Given the description of an element on the screen output the (x, y) to click on. 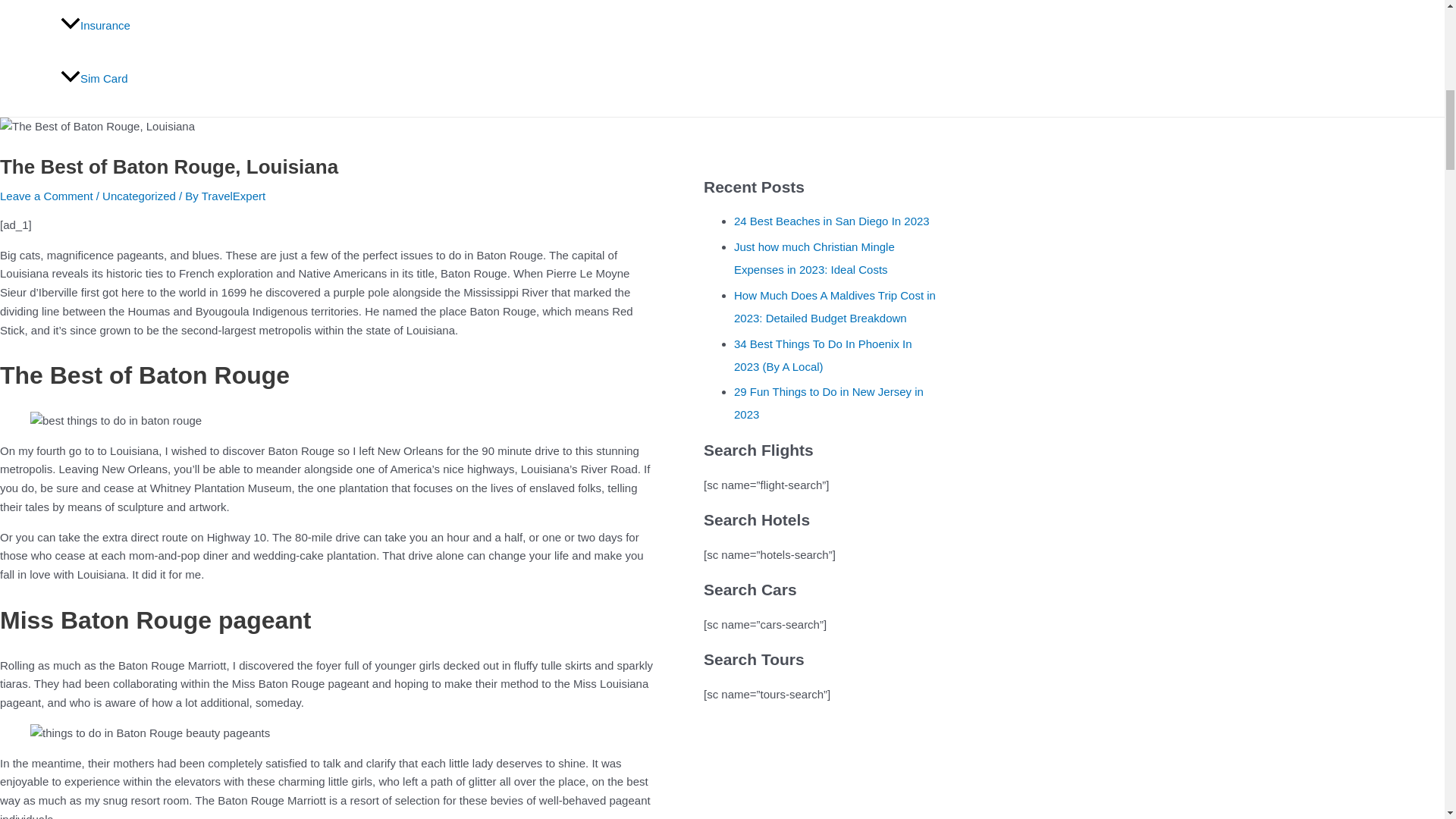
Insurance (118, 26)
View all posts by TravelExpert (233, 195)
Sim Card (118, 78)
